Given the description of an element on the screen output the (x, y) to click on. 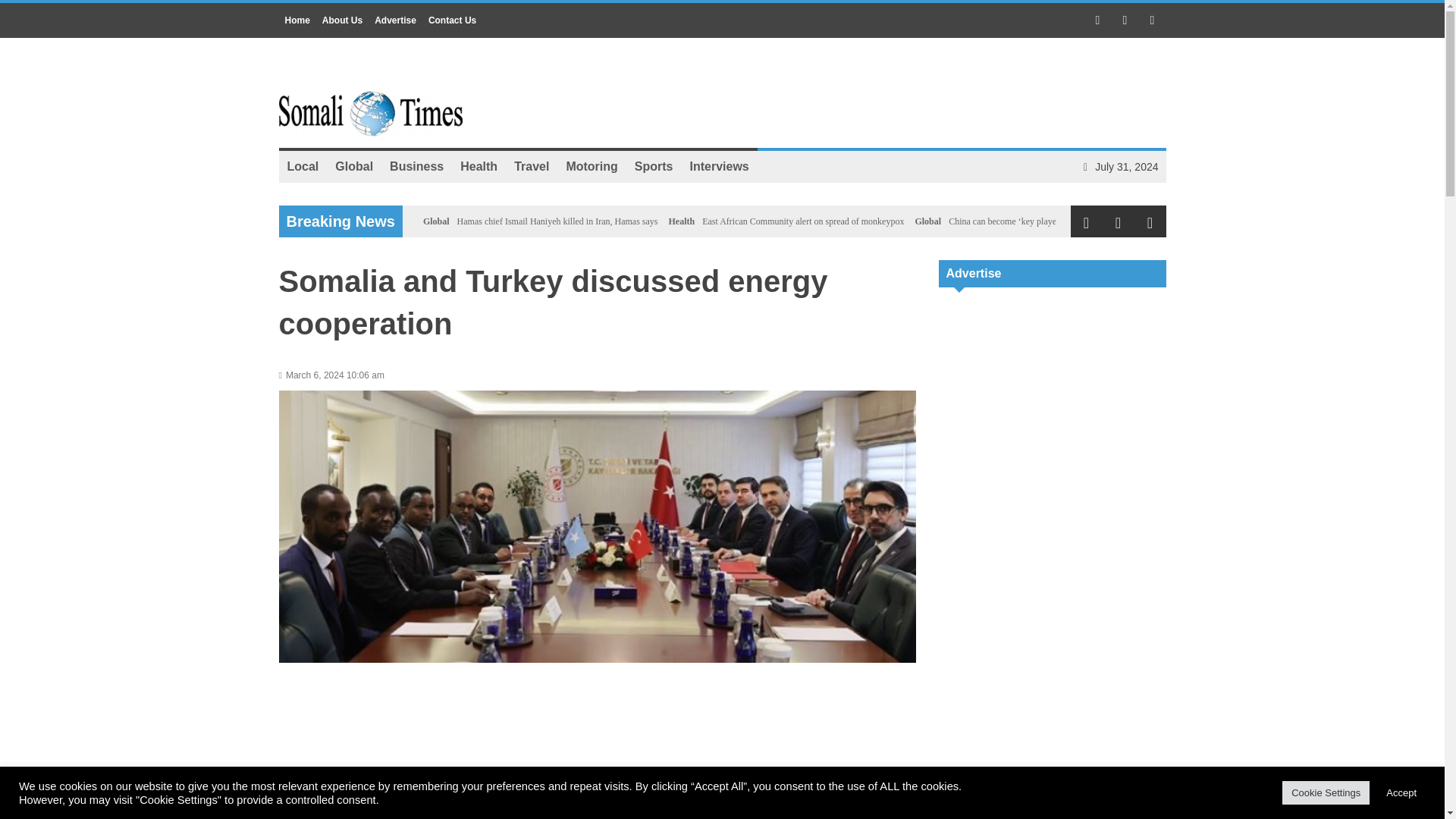
Global (353, 166)
Advertisement (1052, 397)
Advertisement (890, 94)
Contact Us (451, 20)
Travel (531, 166)
Local (303, 166)
Health (681, 221)
East African Community alert on spread of monkeypox (802, 221)
Global (436, 221)
Home (297, 20)
Health (478, 166)
Hamas chief Ismail Haniyeh killed in Iran, Hamas says (557, 221)
Sports (653, 166)
About Us (341, 20)
Advertisement (1052, 787)
